Given the description of an element on the screen output the (x, y) to click on. 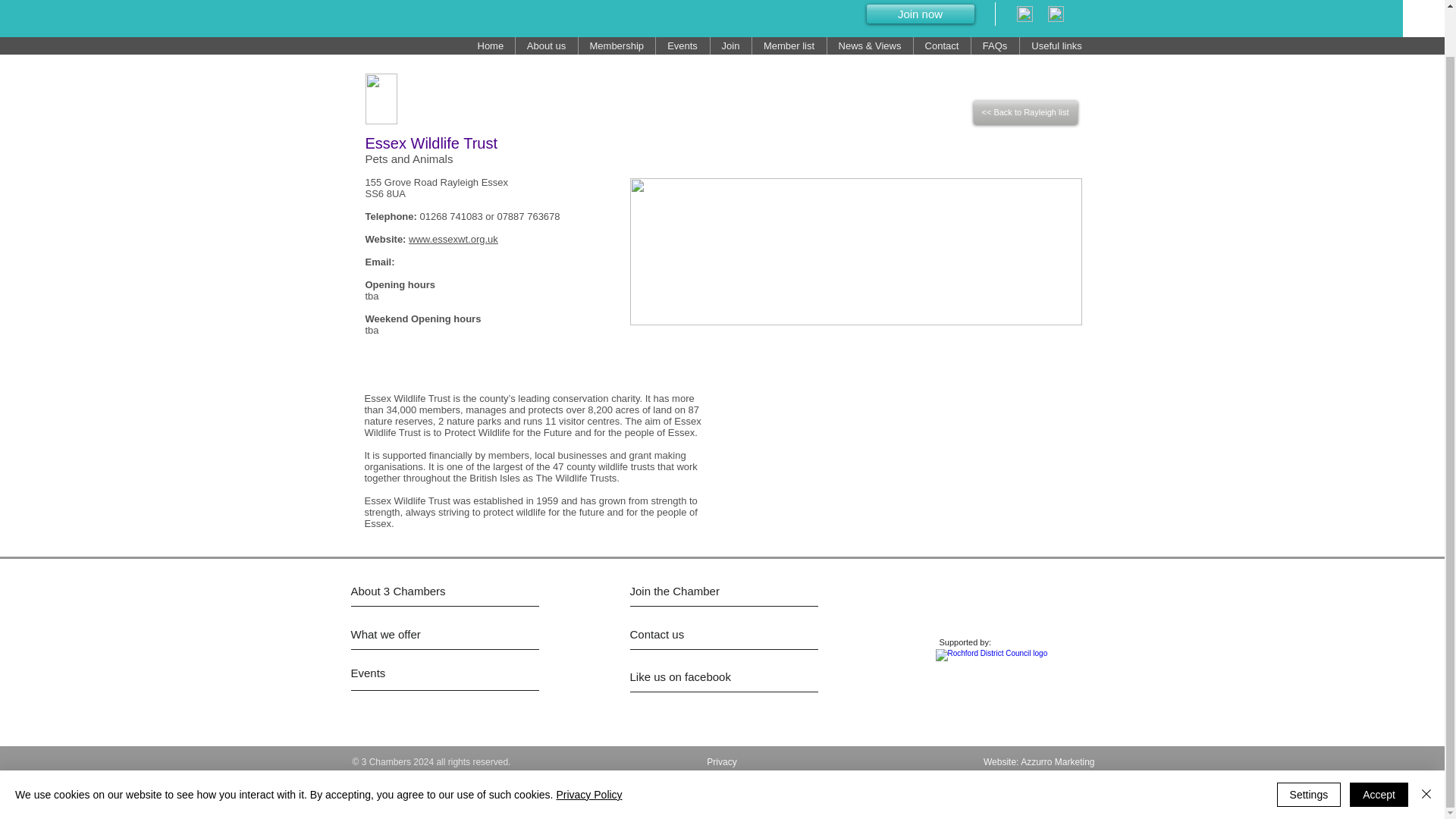
Useful links (1056, 45)
About us (546, 45)
Privacy Policy (588, 744)
Azzurro Marketing (1057, 761)
Like us on facebook (696, 676)
www.essexwt.org.uk (453, 238)
Events (407, 672)
Join the Chamber (686, 590)
Contact us (696, 634)
Join now (920, 13)
